Given the description of an element on the screen output the (x, y) to click on. 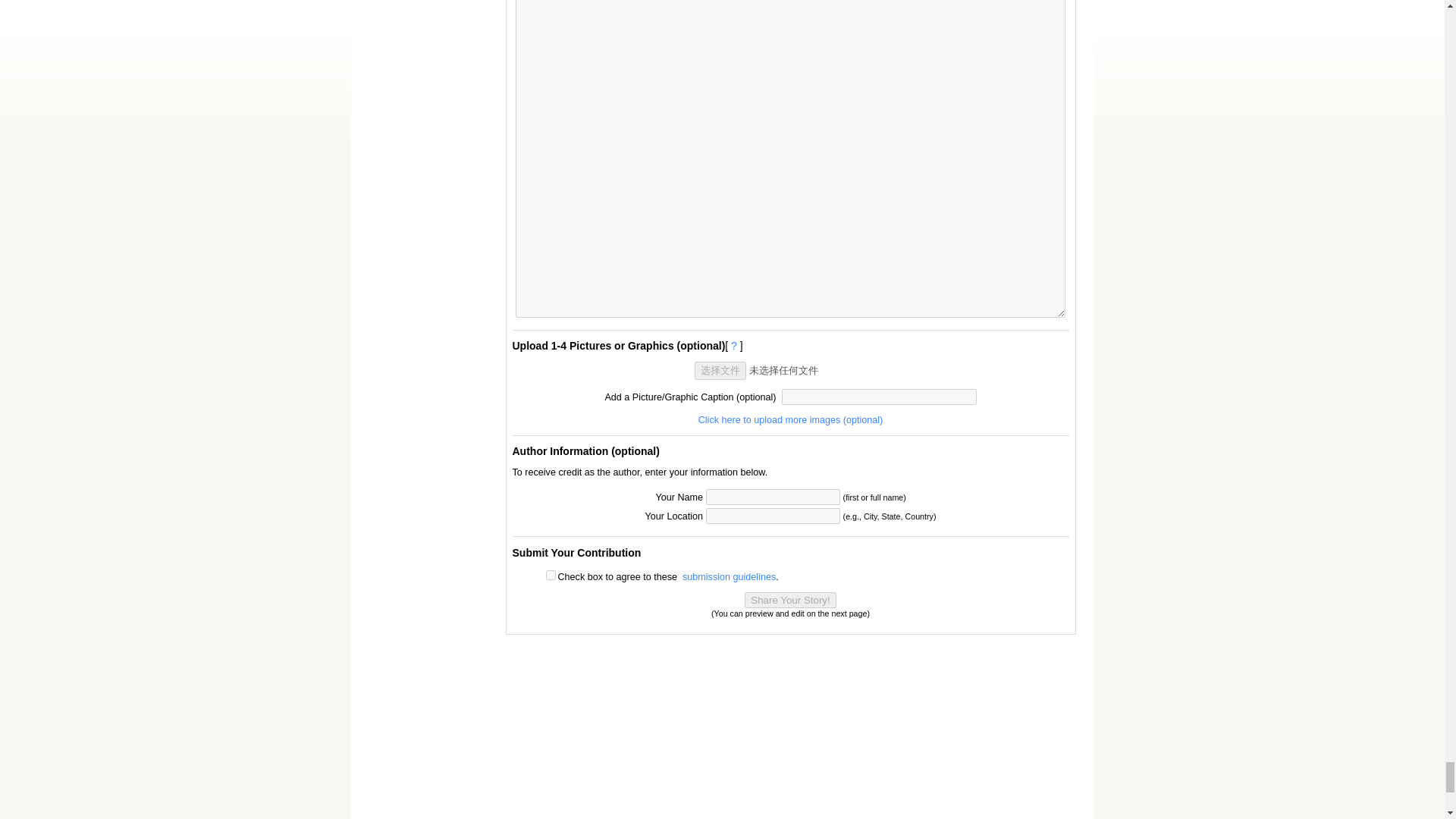
submission guidelines (729, 576)
Share Your Story! (789, 600)
Share Your Story! (789, 600)
checkbox (551, 574)
? (733, 345)
